Given the description of an element on the screen output the (x, y) to click on. 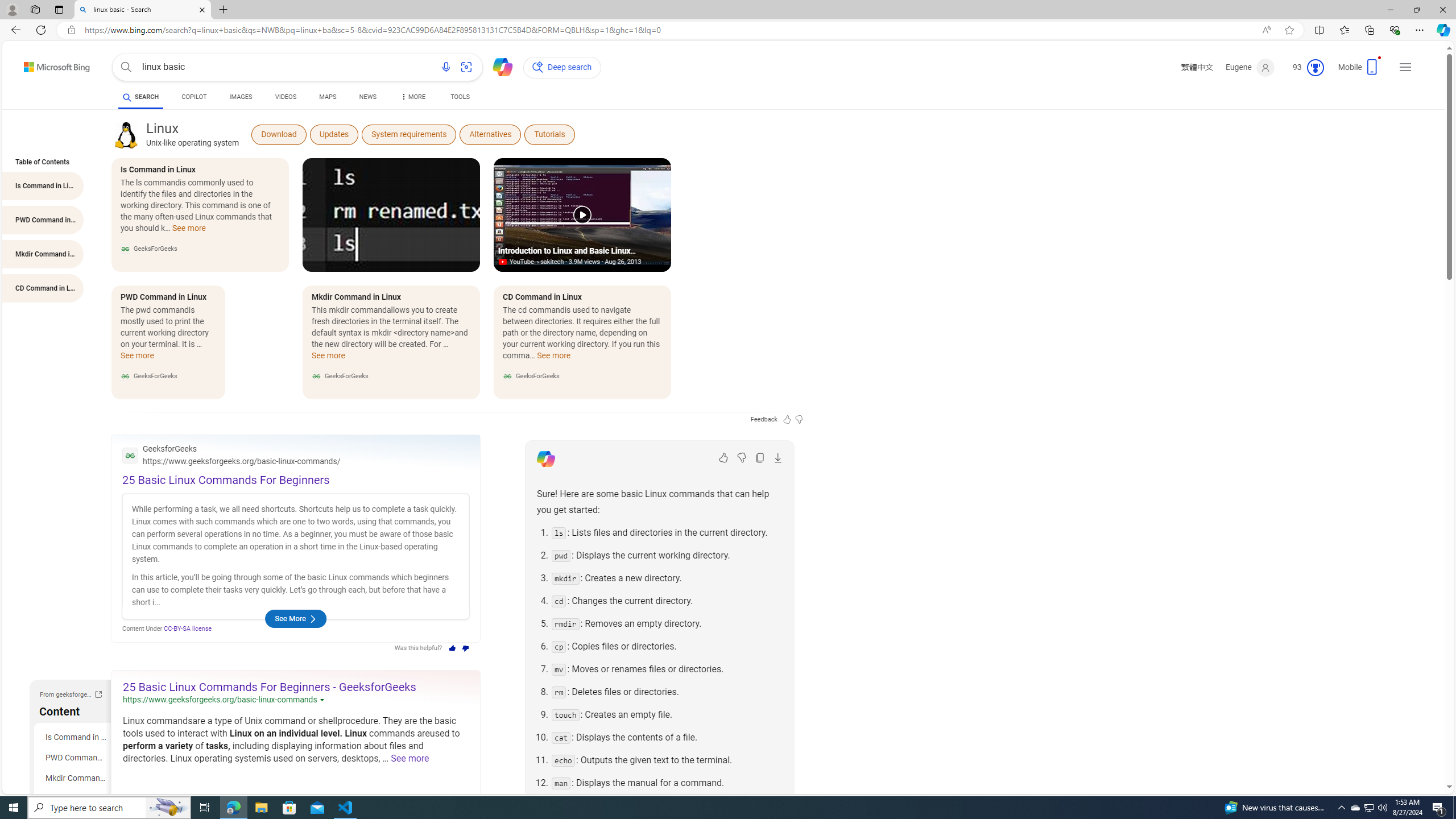
SEARCH (140, 96)
NEWS (367, 98)
mkdir: Creates a new directory. (666, 578)
Is Command in Linux (74, 737)
Chat (497, 65)
Microsoft Rewards 93 (1303, 67)
See More (295, 618)
Mobile (1360, 70)
pwd: Displays the current working directory. (666, 555)
Like (723, 457)
Dropdown Menu (412, 96)
Copy (759, 457)
